Given the description of an element on the screen output the (x, y) to click on. 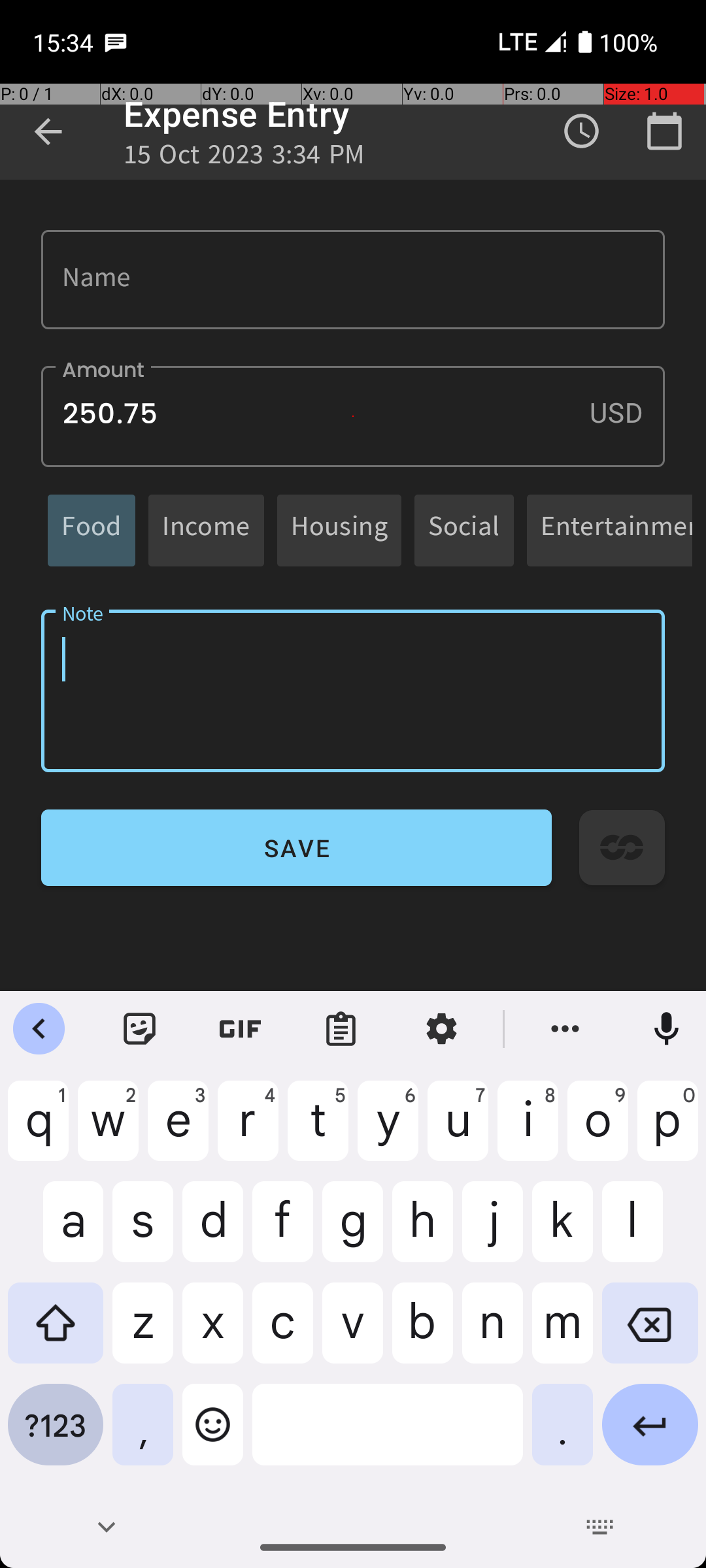
250.75 Element type: android.widget.EditText (352, 416)
